Given the description of an element on the screen output the (x, y) to click on. 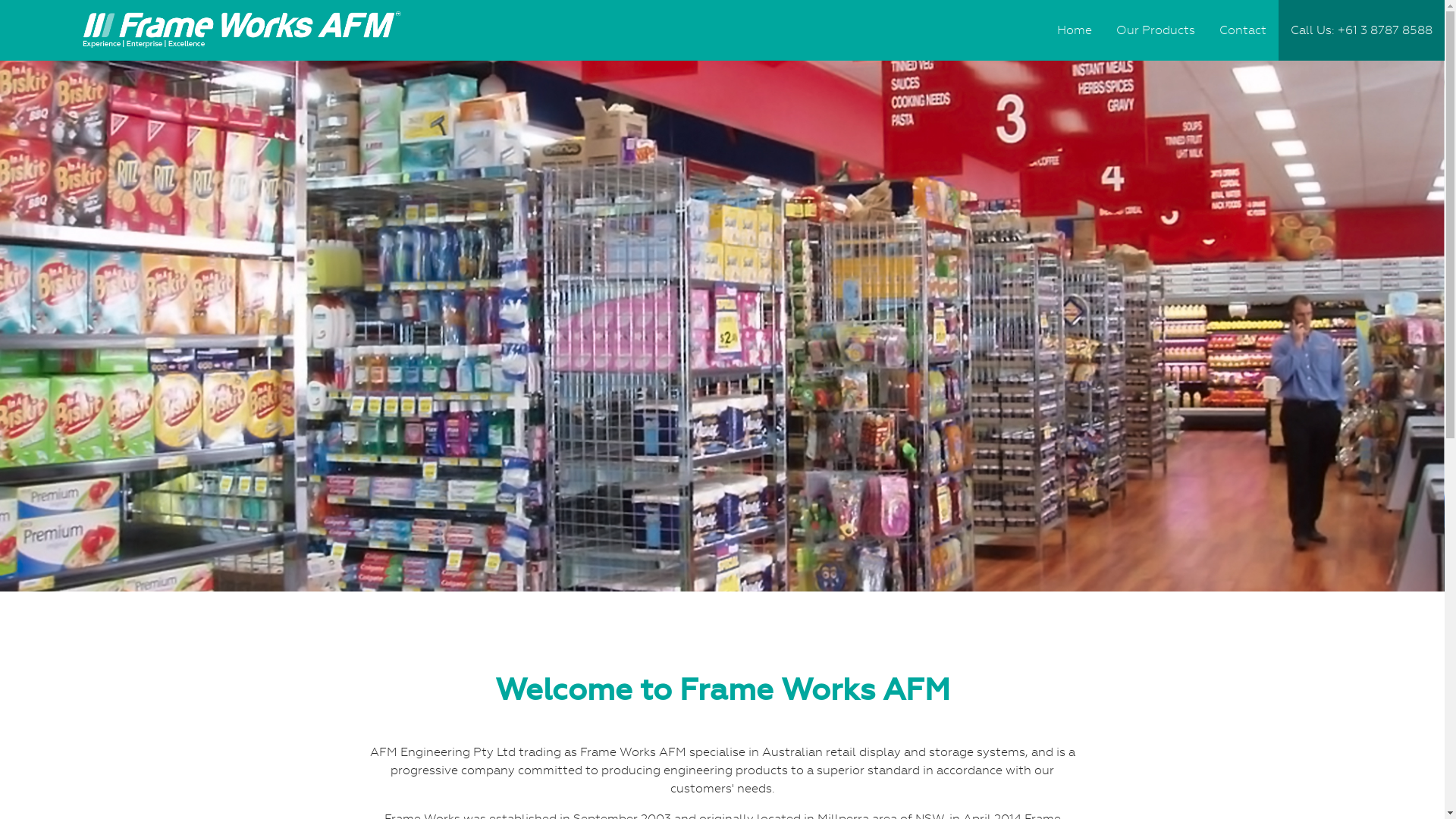
Call Us: +61 3 8787 8588 Element type: text (1361, 30)
Home Element type: text (1074, 30)
Contact Element type: text (1242, 30)
Our Products Element type: text (1155, 30)
